Given the description of an element on the screen output the (x, y) to click on. 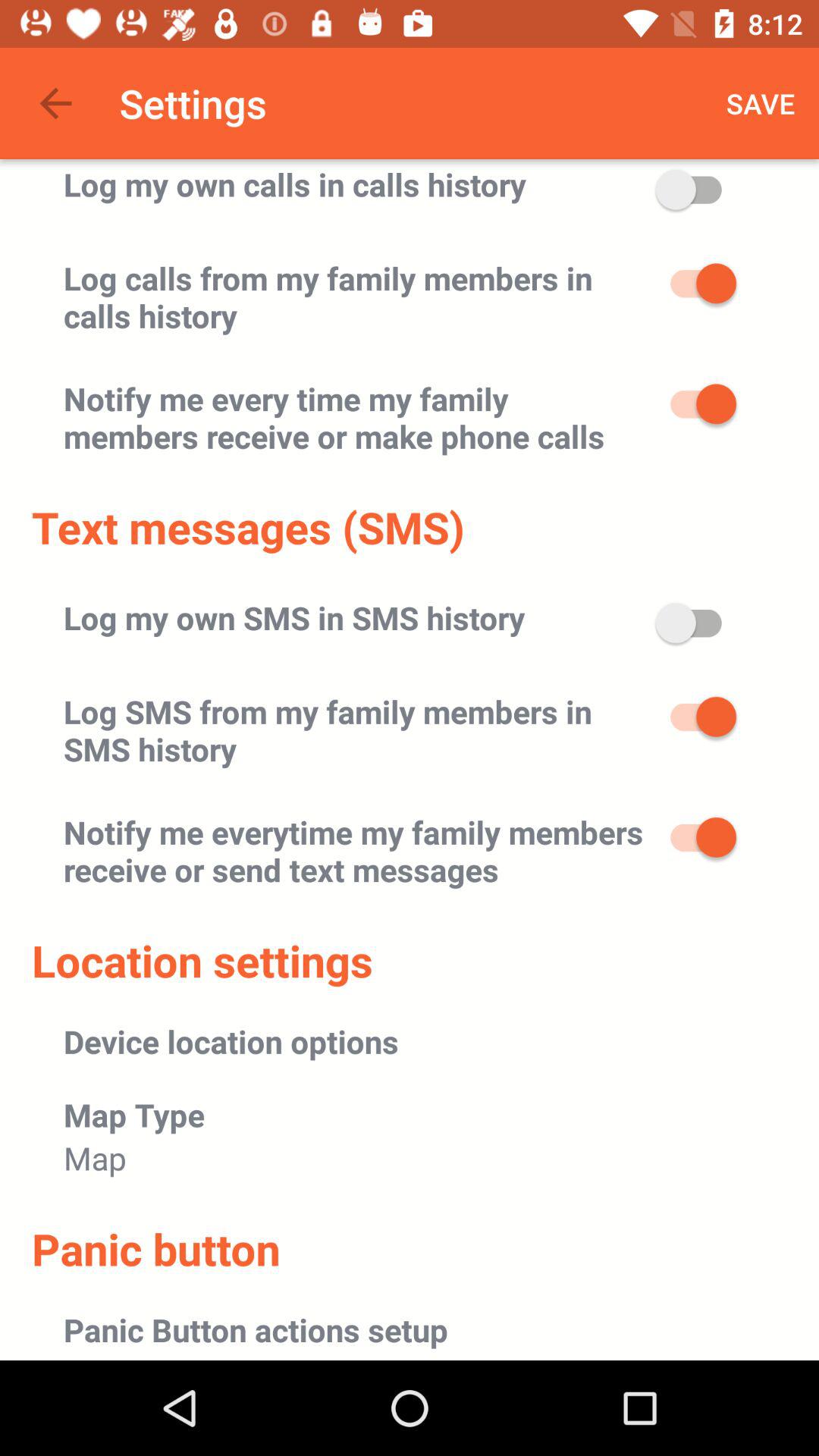
turn on the item above the log my own icon (55, 103)
